Given the description of an element on the screen output the (x, y) to click on. 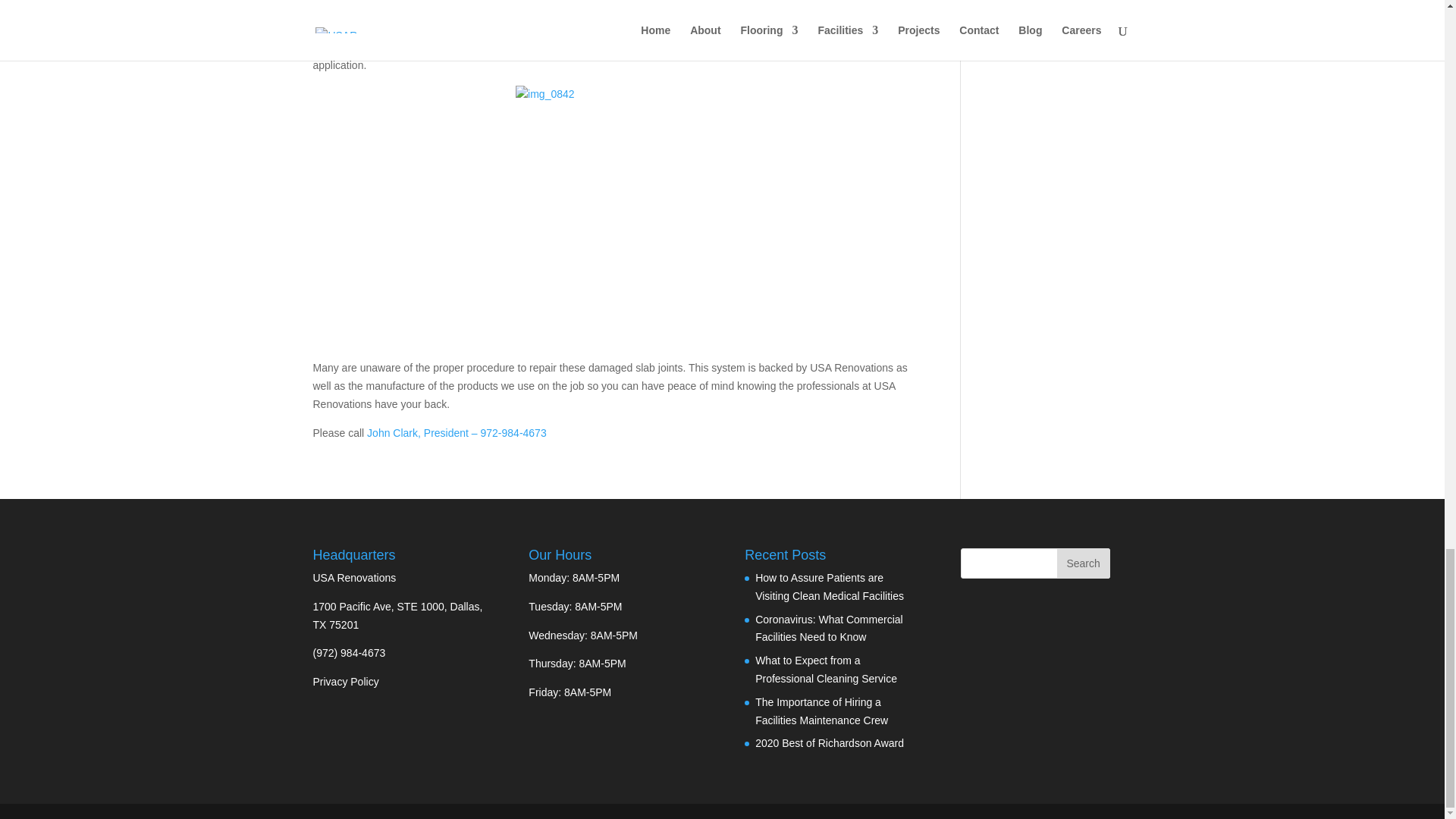
Privacy Policy (345, 681)
Search (1083, 562)
Call via Hangouts (349, 653)
How to Assure Patients are Visiting Clean Medical Facilities (829, 586)
